Given the description of an element on the screen output the (x, y) to click on. 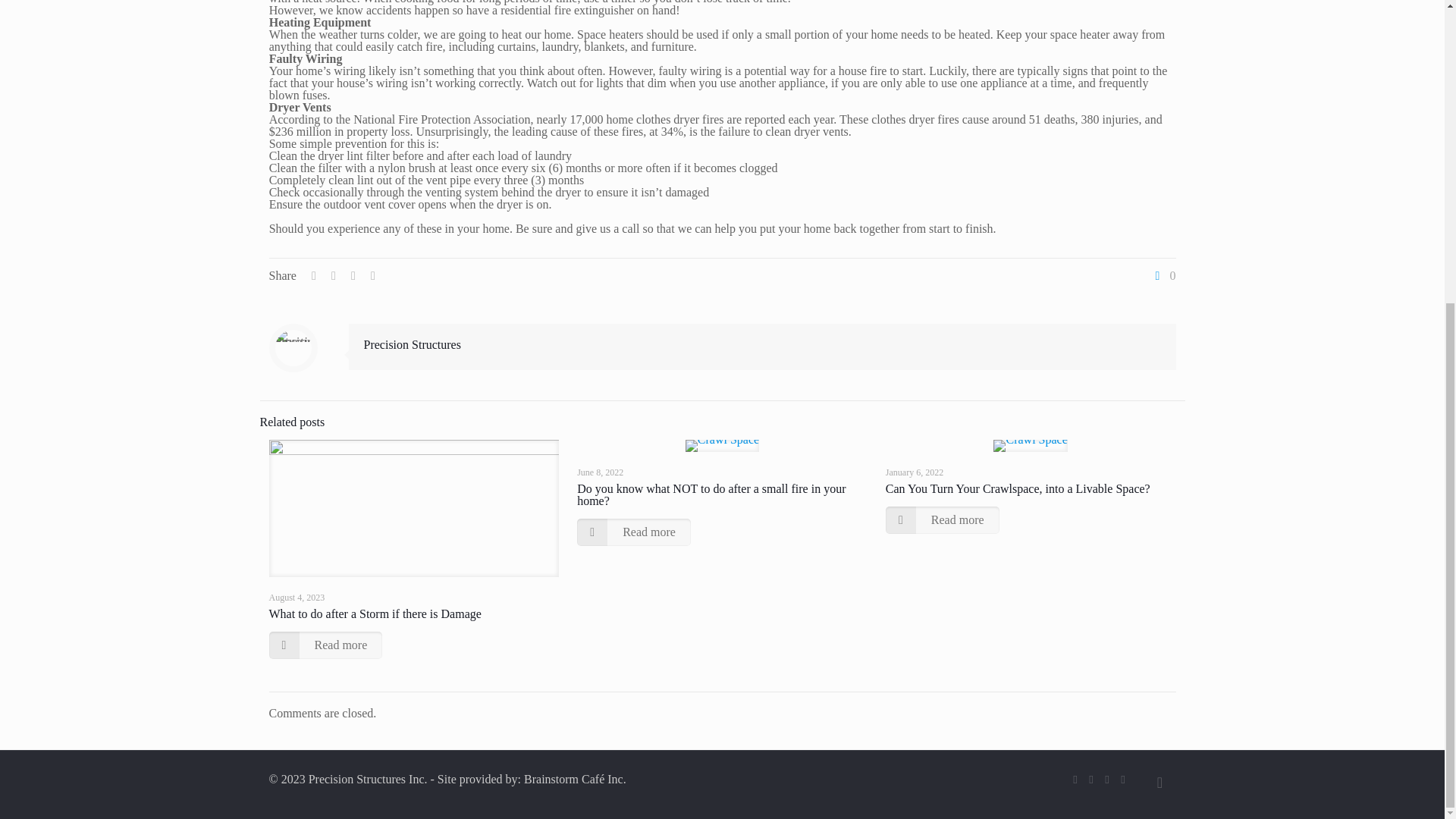
LinkedIn (1091, 779)
Instagram (1106, 779)
Facebook (1074, 779)
